Given the description of an element on the screen output the (x, y) to click on. 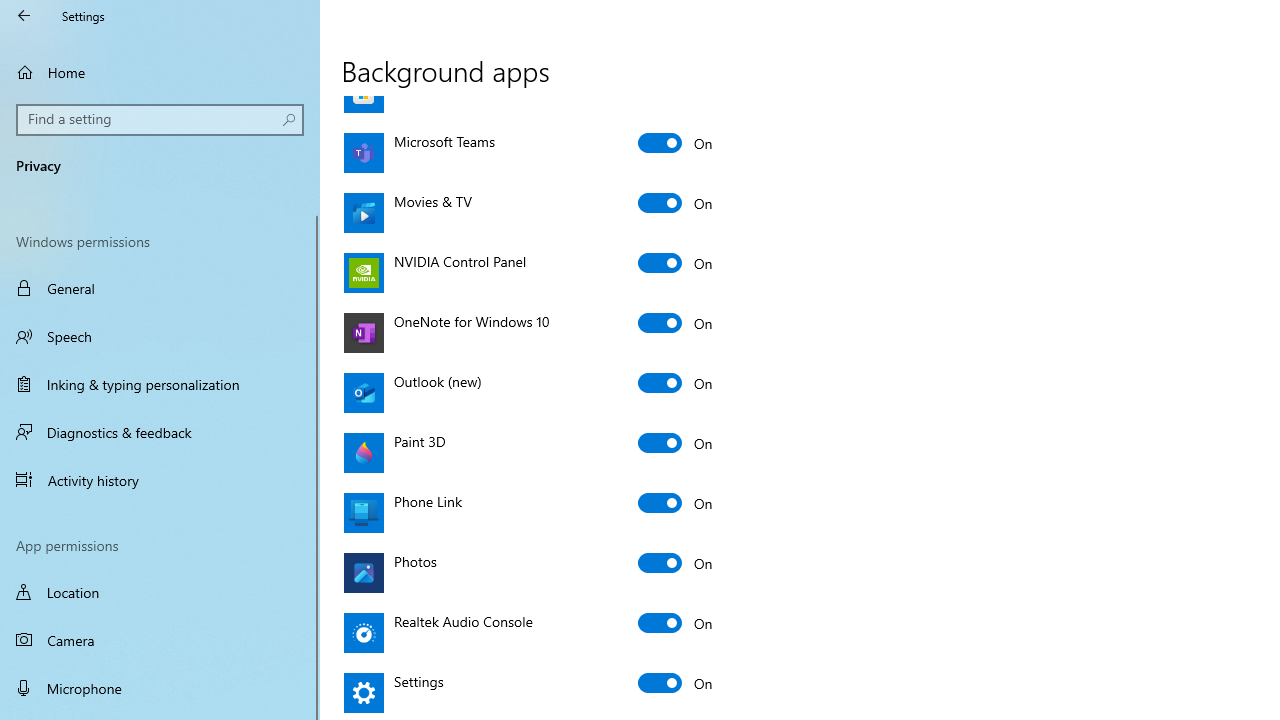
Search box, Find a setting (160, 119)
Realtek Audio Console (675, 622)
Back (24, 15)
Photos (675, 562)
Diagnostics & feedback (160, 431)
Movies & TV (675, 202)
Microsoft 365 (Office) (675, 22)
Activity history (160, 479)
